Given the description of an element on the screen output the (x, y) to click on. 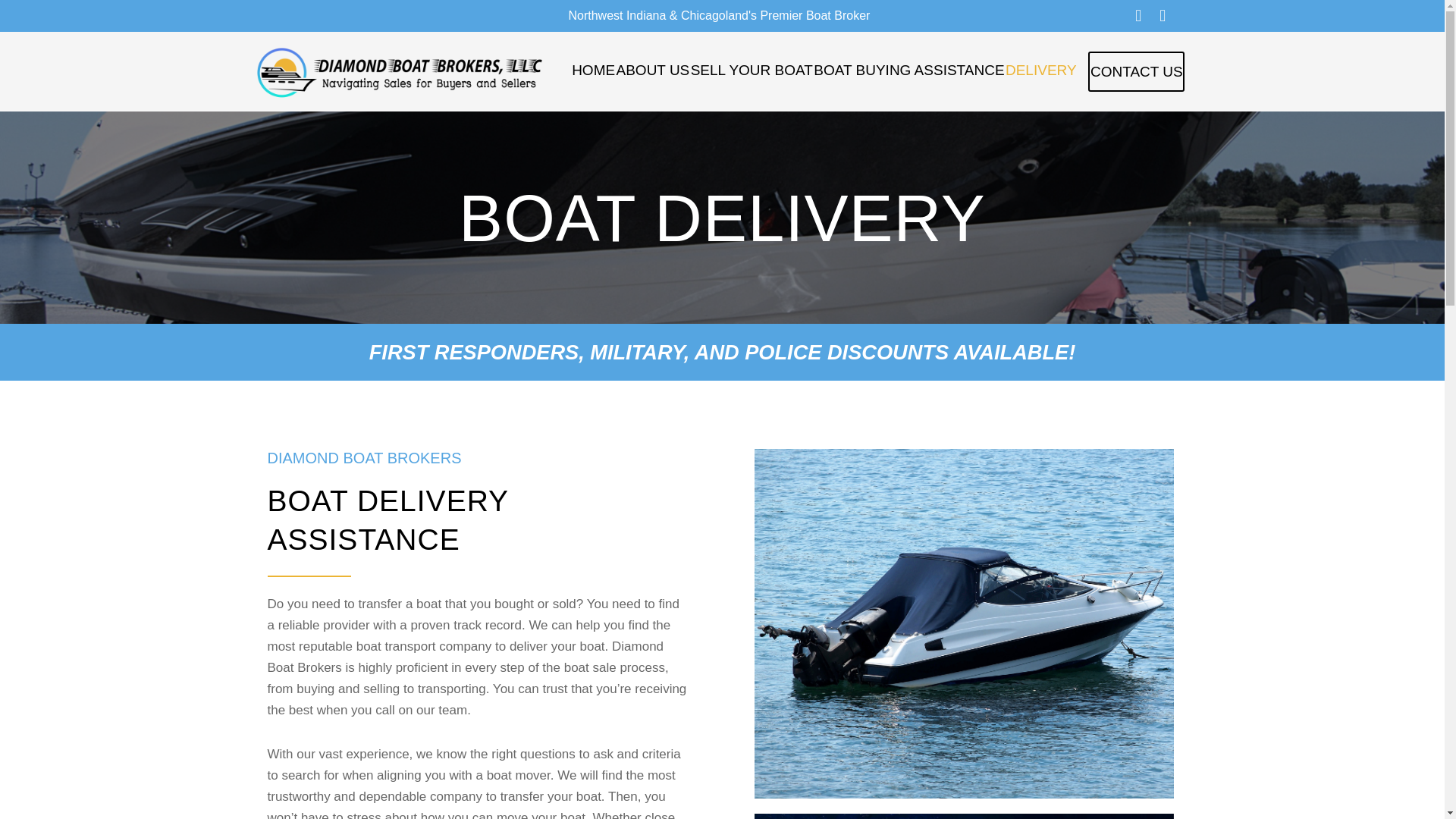
Facebook-f (1138, 15)
BOAT BUYING ASSISTANCE (909, 69)
CONTACT US (1136, 71)
SELL YOUR BOAT (751, 69)
Instagram (1162, 15)
DELIVERY (1040, 69)
ABOUT US (652, 69)
HOME (592, 69)
